Given the description of an element on the screen output the (x, y) to click on. 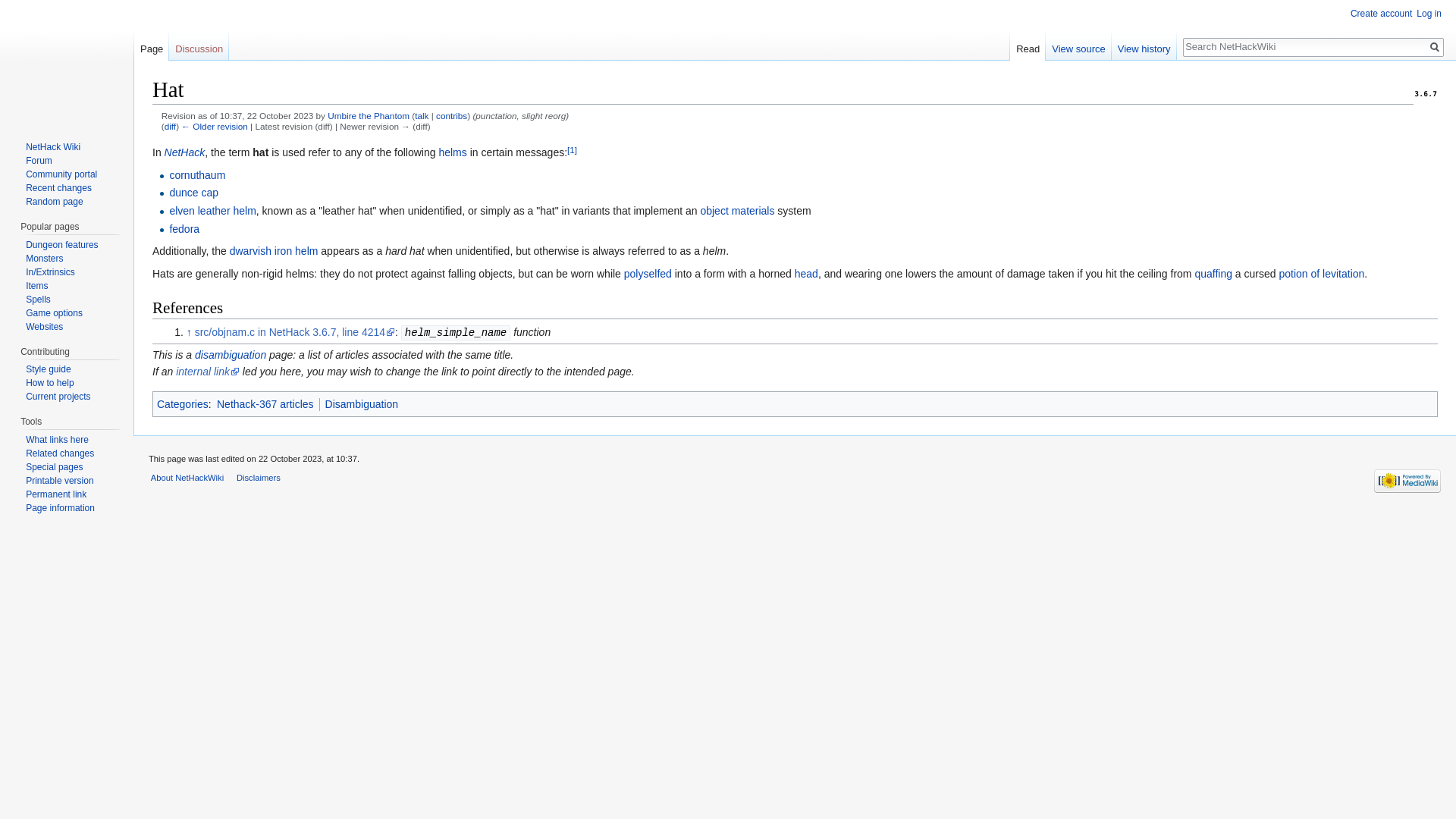
Disambiguation (361, 403)
Quaff (1212, 273)
Categories (182, 403)
dunce cap (193, 192)
Hat (213, 126)
Fedora (183, 228)
View source (1078, 45)
Head (806, 273)
